Given the description of an element on the screen output the (x, y) to click on. 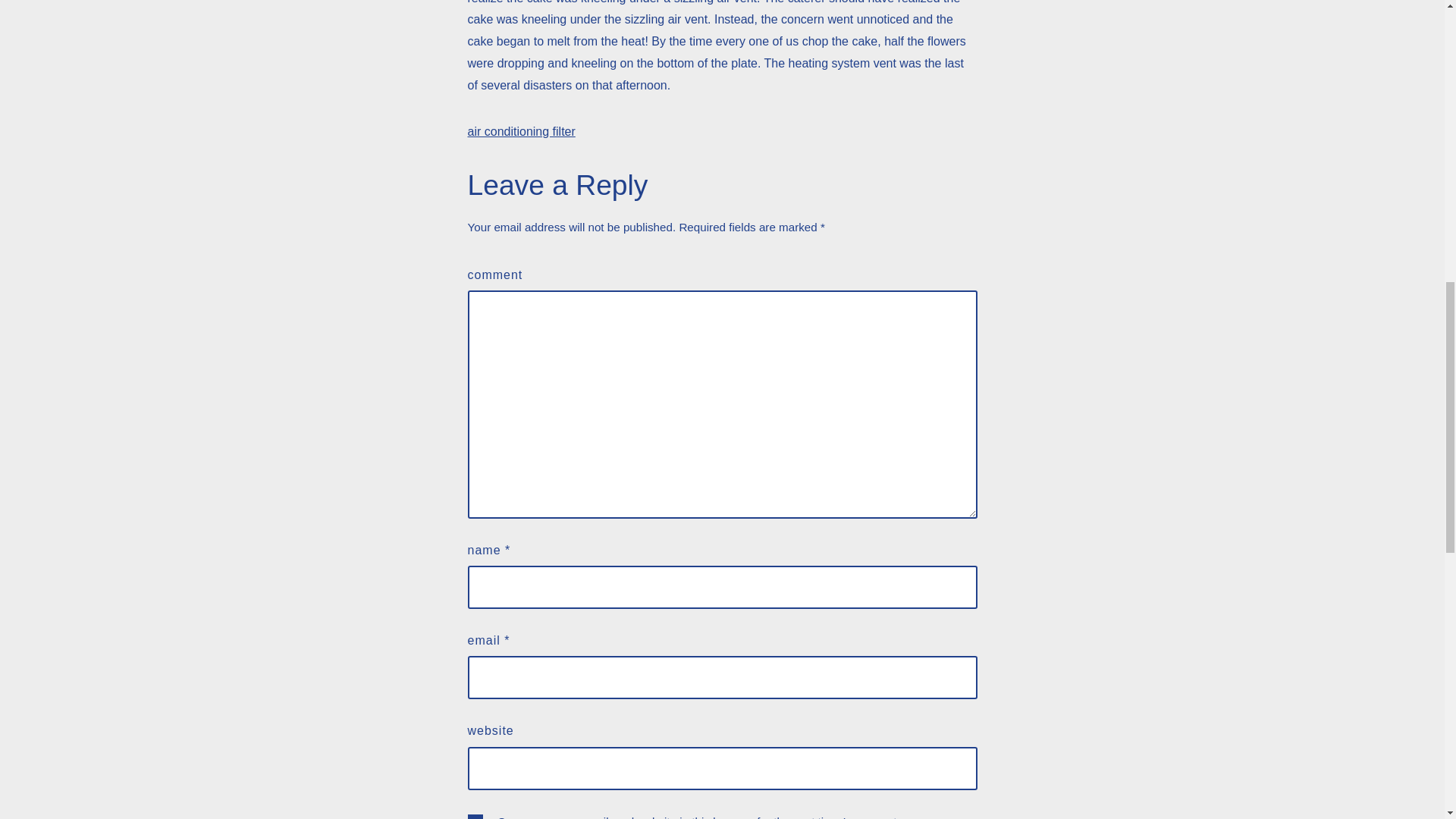
air conditioning filter (521, 131)
